Given the description of an element on the screen output the (x, y) to click on. 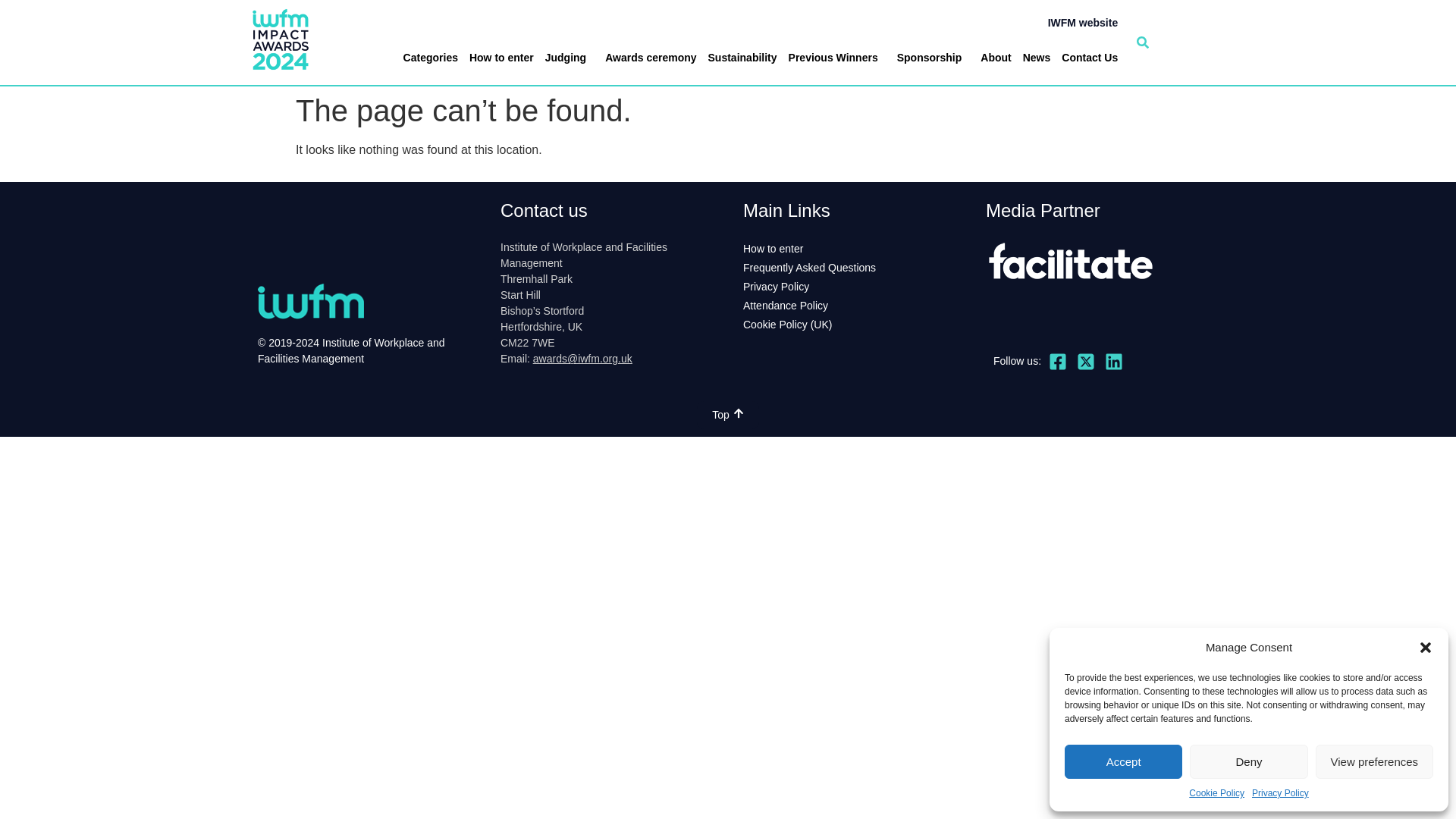
Judging (568, 57)
Previous Winners (836, 57)
Sustainability (742, 57)
IWFM website (1083, 22)
Awards ceremony (650, 57)
Categories (429, 57)
About (995, 57)
Contact Us (1089, 57)
Sponsorship (933, 57)
News (1036, 57)
How to enter (501, 57)
